Given the description of an element on the screen output the (x, y) to click on. 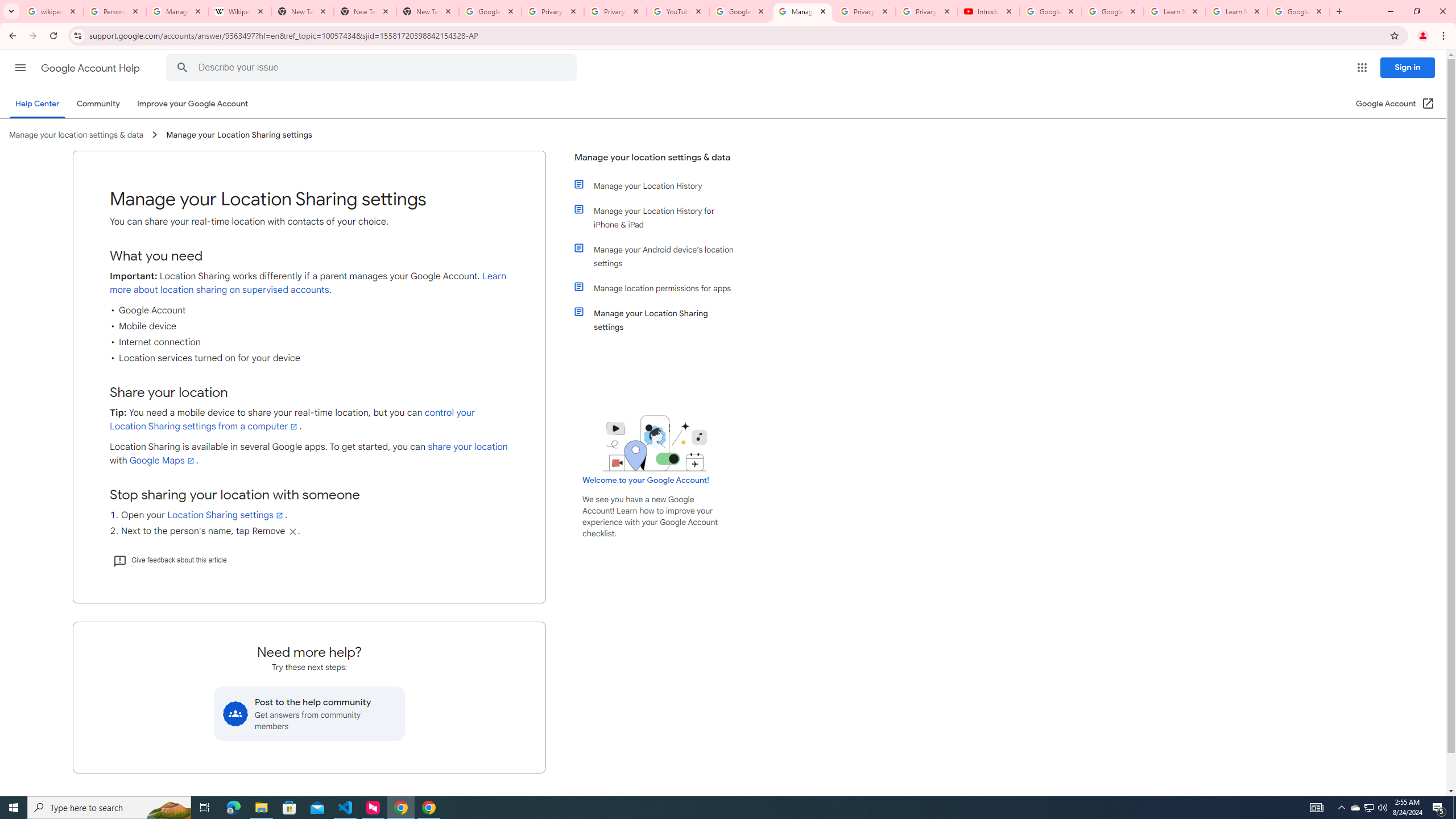
Manage location permissions for apps (661, 288)
Give feedback about this article (169, 559)
Manage your location settings & data (656, 161)
Manage your Location Sharing settings (661, 319)
Introduction | Google Privacy Policy - YouTube (988, 11)
Manage your Location Sharing settings - Google Account Help (802, 11)
Manage your Location History (661, 185)
control your Location Sharing settings from a computer (292, 419)
Learning Center home page image (655, 442)
